Given the description of an element on the screen output the (x, y) to click on. 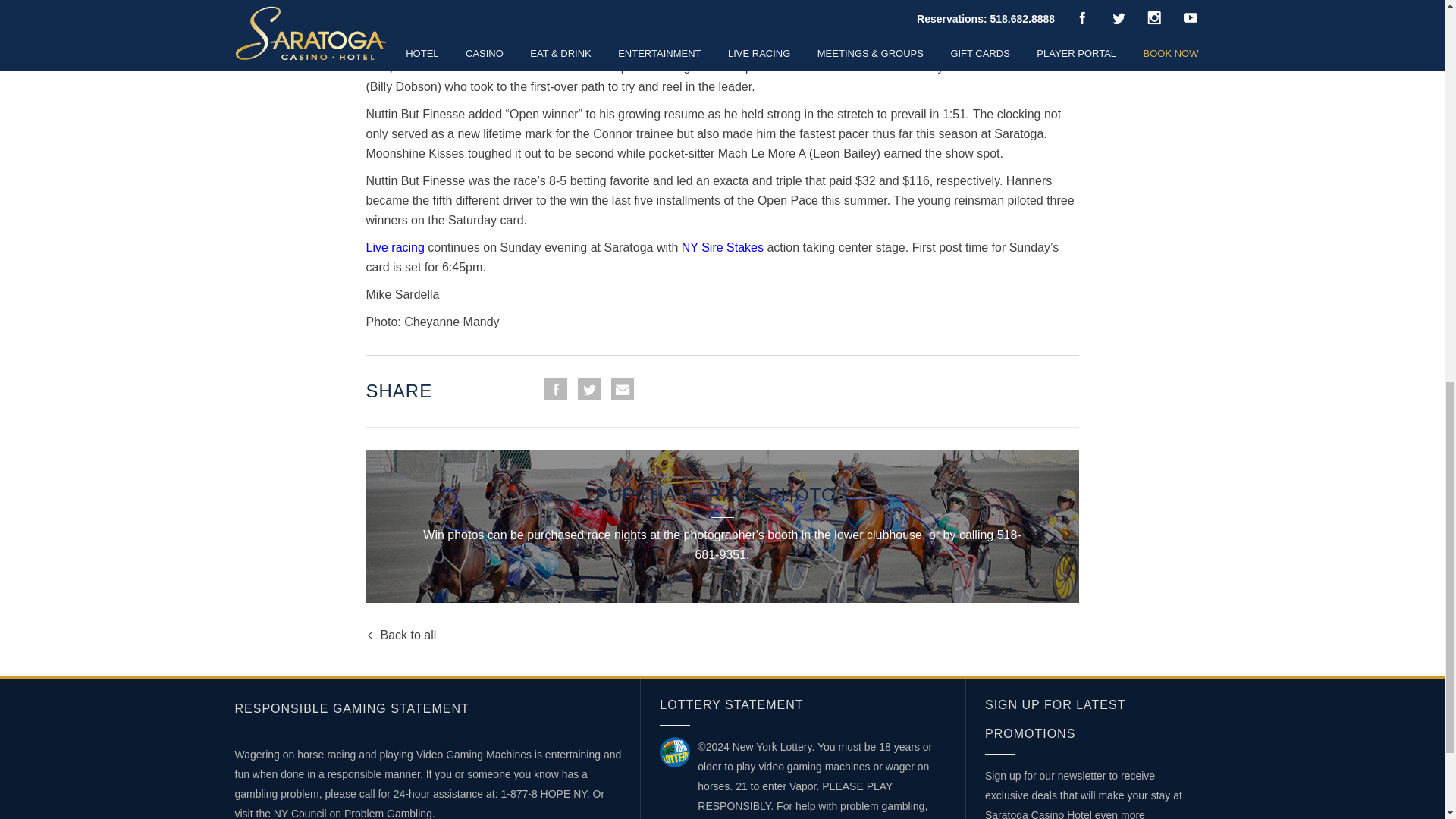
Email a Friend (622, 389)
Live racing (394, 246)
Tweet this item (588, 389)
Back to all (400, 634)
Share on Facebook (555, 389)
NY Sire Stakes (721, 246)
